Given the description of an element on the screen output the (x, y) to click on. 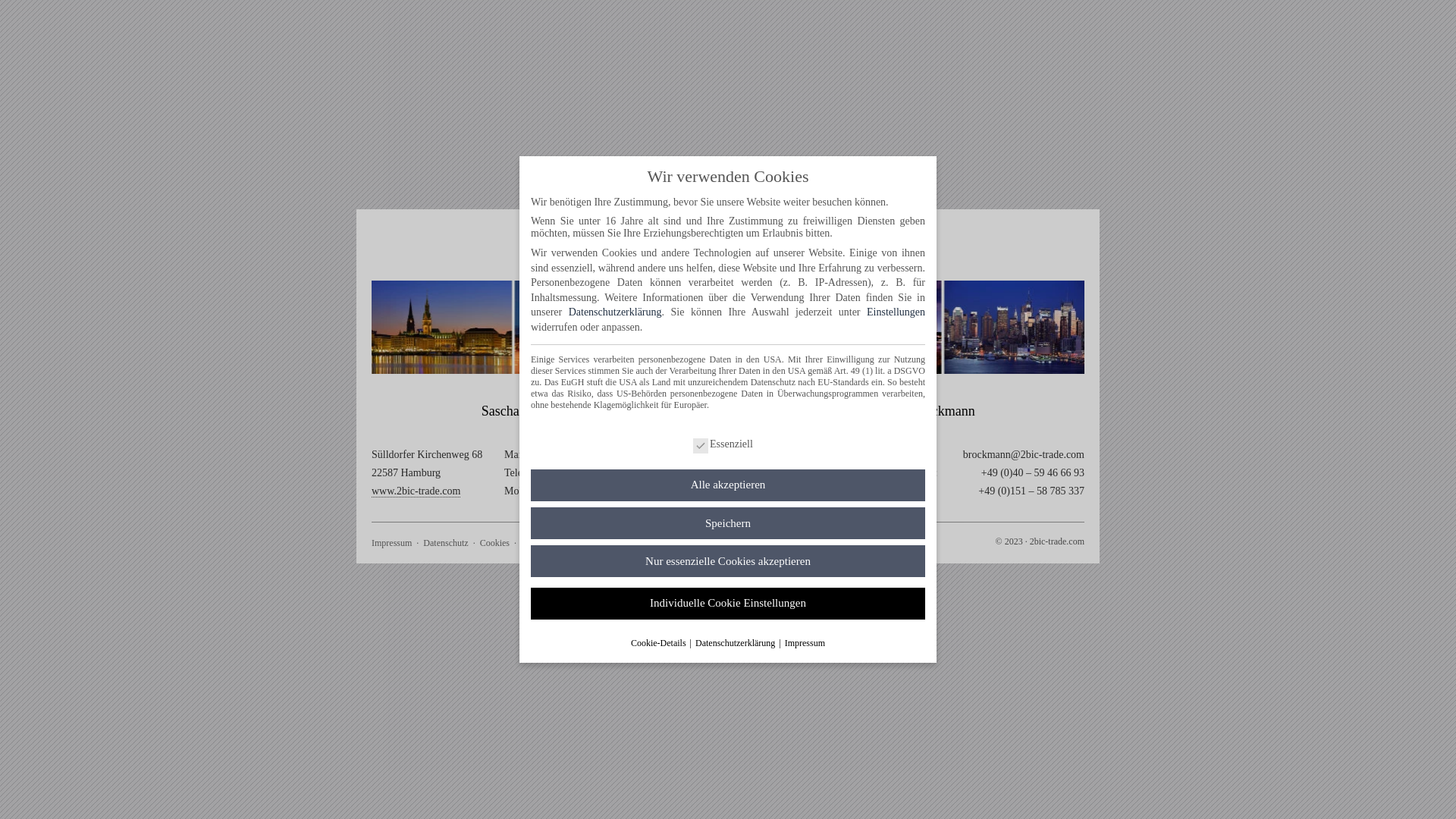
Cookie-Details Element type: text (659, 642)
Datenschutz Element type: text (445, 542)
Impressum Element type: text (804, 642)
www.2bic-trade.com Element type: text (415, 491)
Nur essenzielle Cookies akzeptieren Element type: text (727, 561)
Cookies Element type: text (494, 542)
www.2bic-trade.com Element type: text (813, 491)
Kontakt Element type: text (535, 542)
Einstellungen Element type: text (895, 311)
Speichern Element type: text (727, 523)
2BIC Import- und Handelsgesellschaft mbH & Co. KG Element type: text (728, 234)
Alle akzeptieren Element type: text (727, 485)
Individuelle Cookie Einstellungen Element type: text (727, 603)
Impressum Element type: text (391, 542)
